Given the description of an element on the screen output the (x, y) to click on. 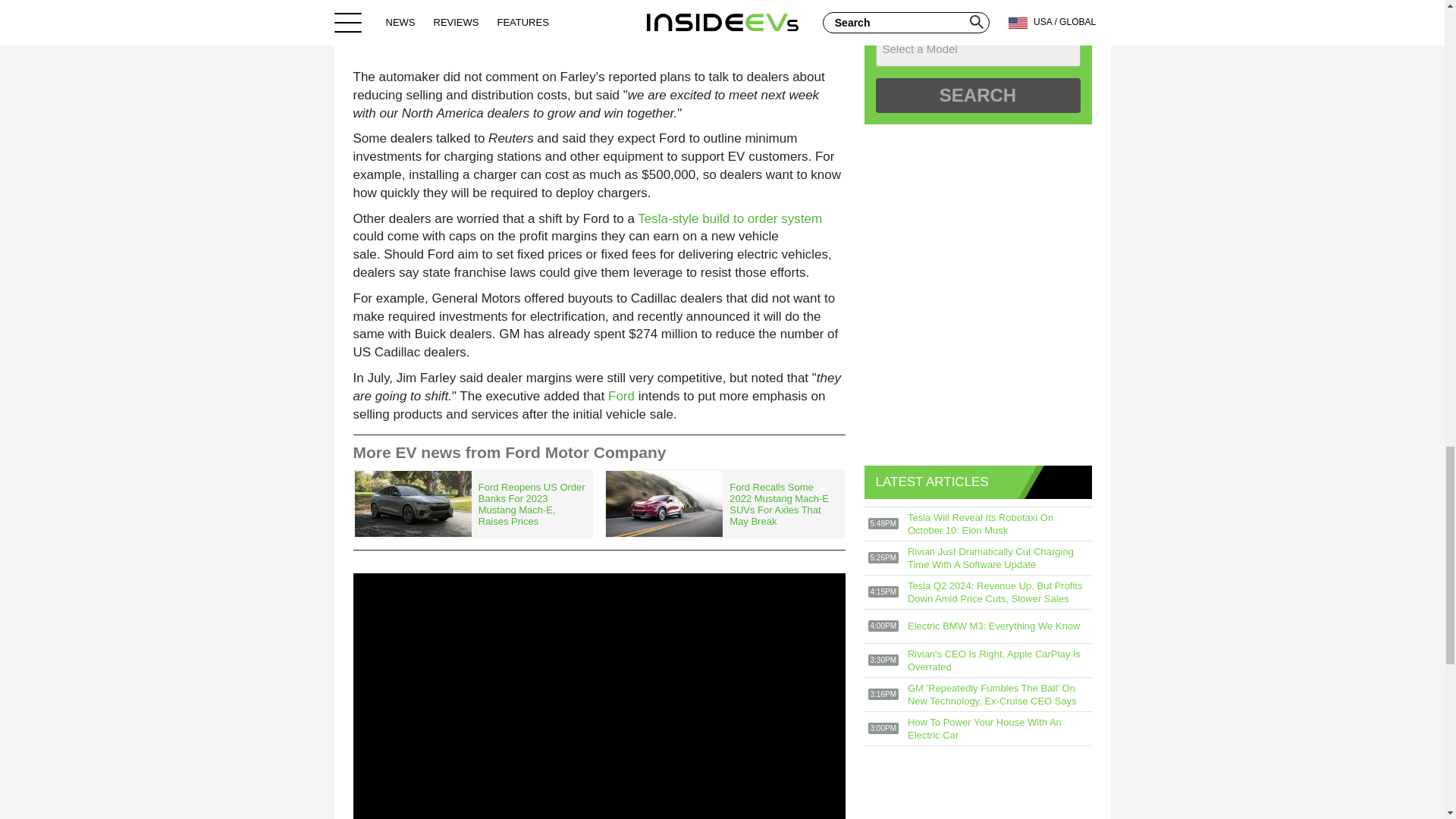
Search (977, 95)
Ford (621, 396)
Tesla-style build to order system (729, 218)
